Given the description of an element on the screen output the (x, y) to click on. 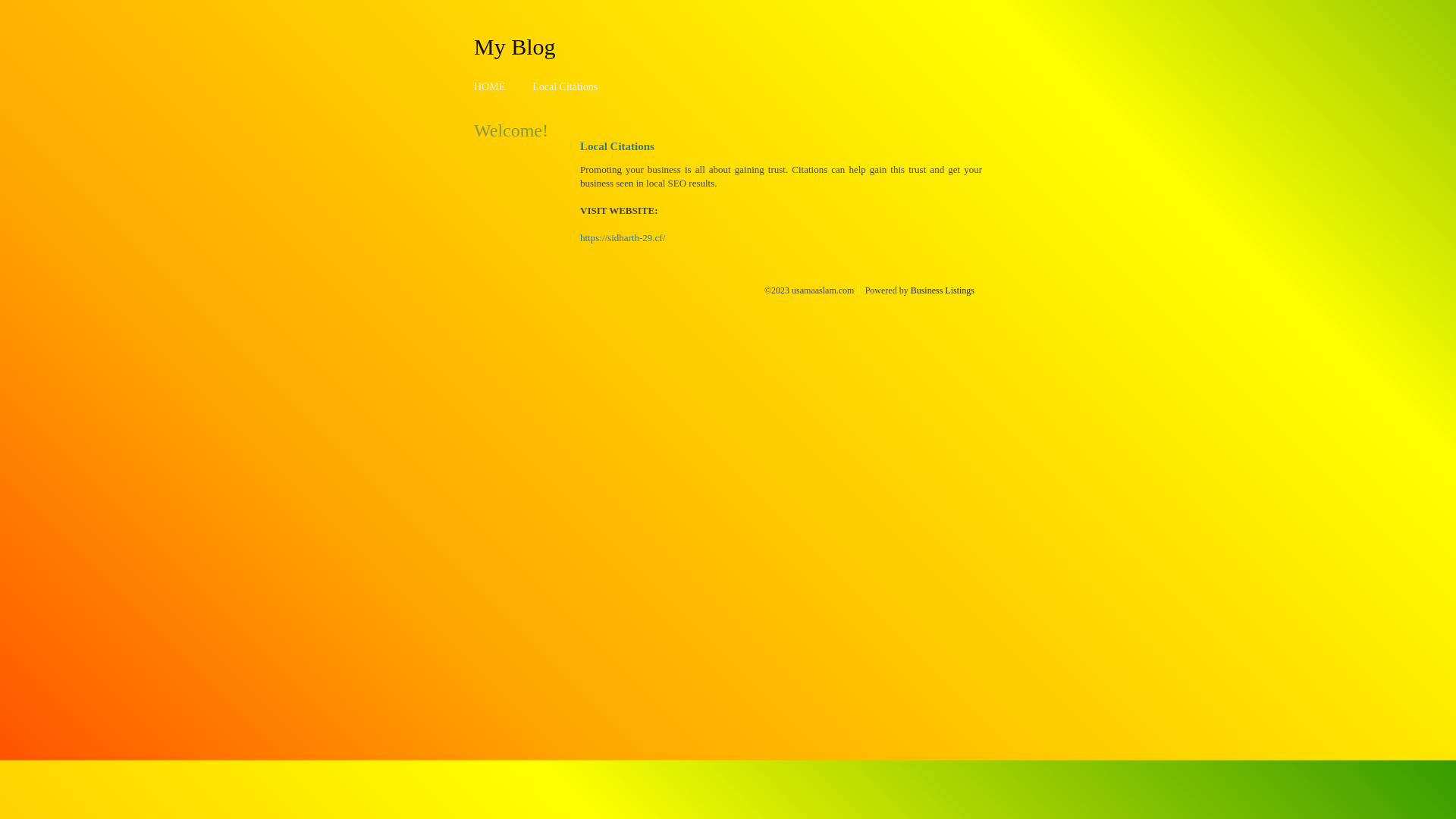
Business Listings Element type: text (942, 290)
https://sidharth-29.cf/ Element type: text (622, 237)
Local Citations Element type: text (564, 86)
HOME Element type: text (489, 86)
My Blog Element type: text (514, 46)
